Given the description of an element on the screen output the (x, y) to click on. 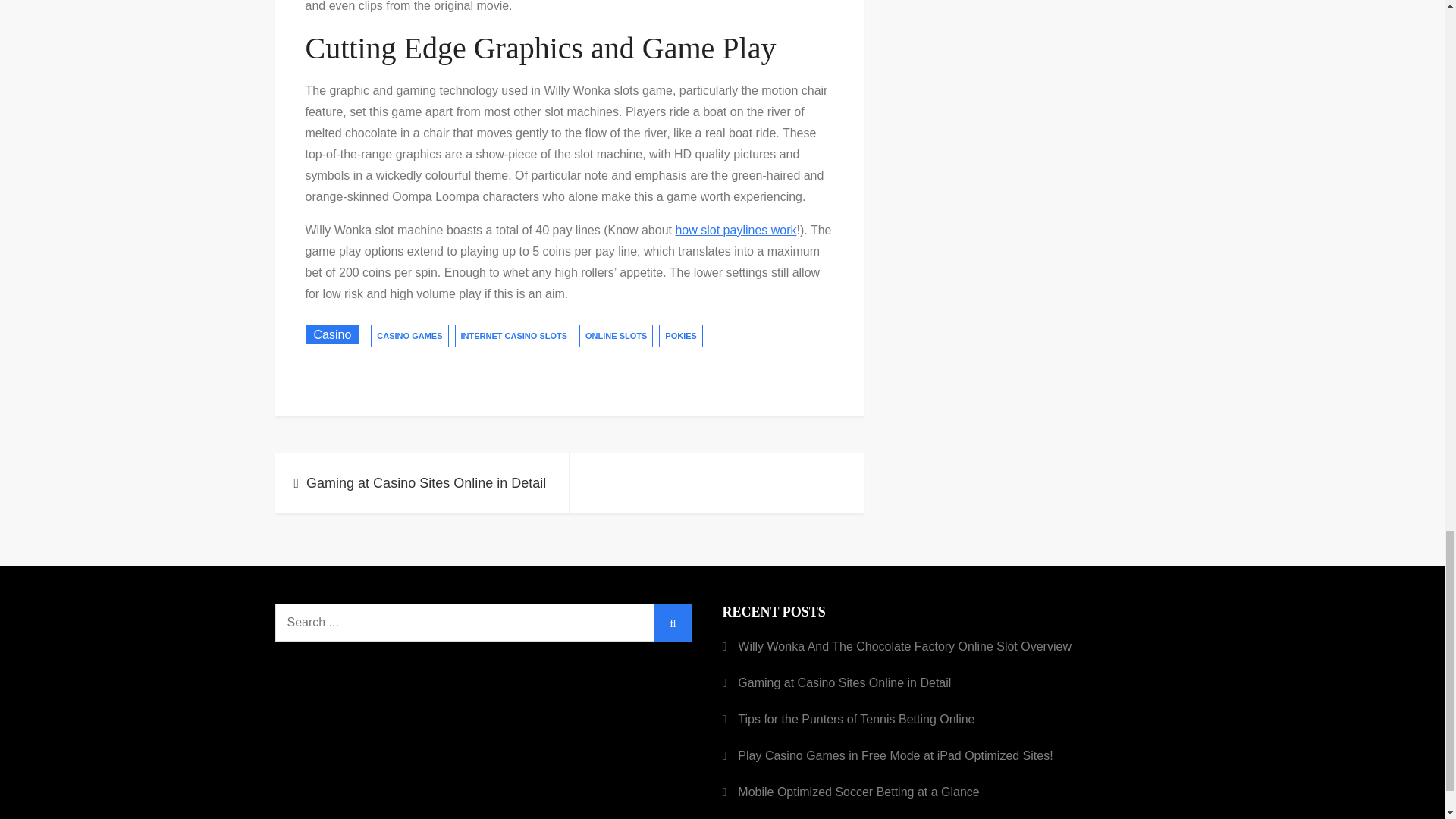
Casino (331, 334)
Search (672, 622)
Mobile Optimized Soccer Betting at a Glance (858, 792)
CASINO GAMES (409, 335)
Gaming at Casino Sites Online in Detail (844, 682)
how slot paylines work (735, 229)
INTERNET CASINO SLOTS (513, 335)
Willy Wonka And The Chocolate Factory Online Slot Overview (904, 646)
Tips for the Punters of Tennis Betting Online (856, 719)
POKIES (681, 335)
